Given the description of an element on the screen output the (x, y) to click on. 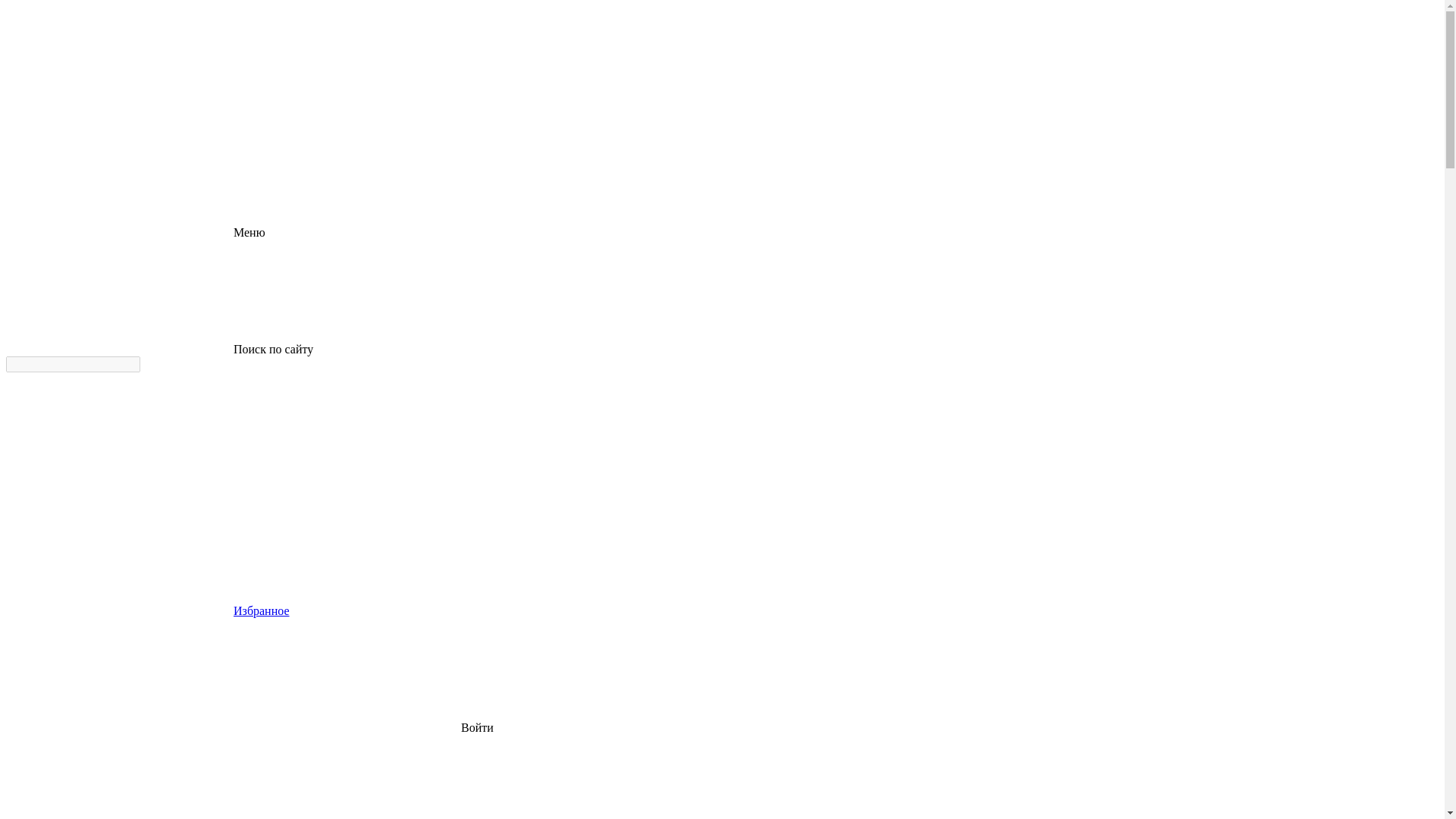
logo Element type: hover (119, 62)
logo Element type: hover (119, 115)
